Given the description of an element on the screen output the (x, y) to click on. 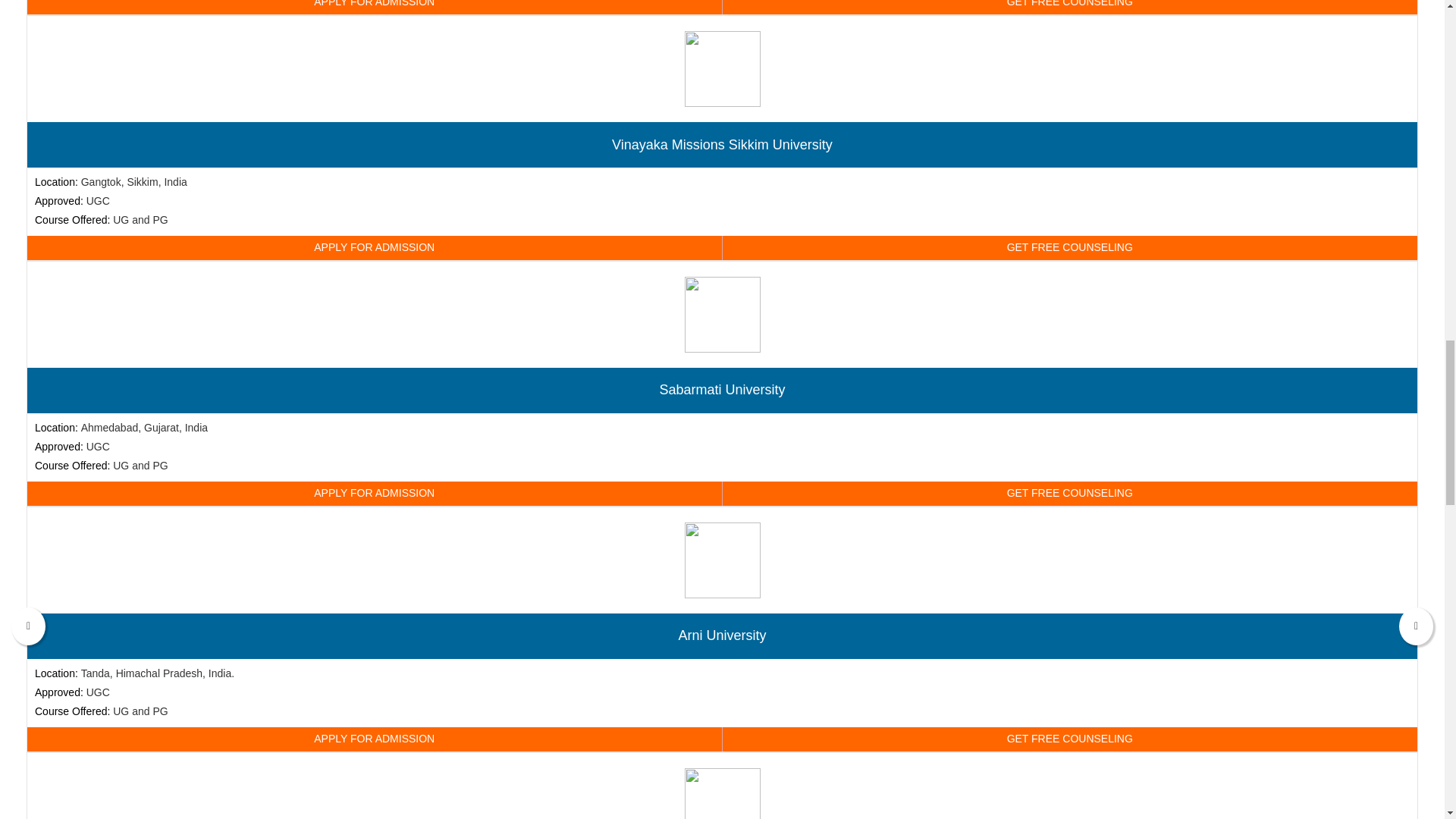
APPLY FOR ADMISSION (374, 739)
GET FREE COUNSELING (1069, 7)
GET FREE COUNSELING (1069, 247)
GET FREE COUNSELING (1069, 739)
APPLY FOR ADMISSION (374, 247)
GET FREE COUNSELING (1069, 493)
APPLY FOR ADMISSION (374, 7)
APPLY FOR ADMISSION (374, 493)
